Given the description of an element on the screen output the (x, y) to click on. 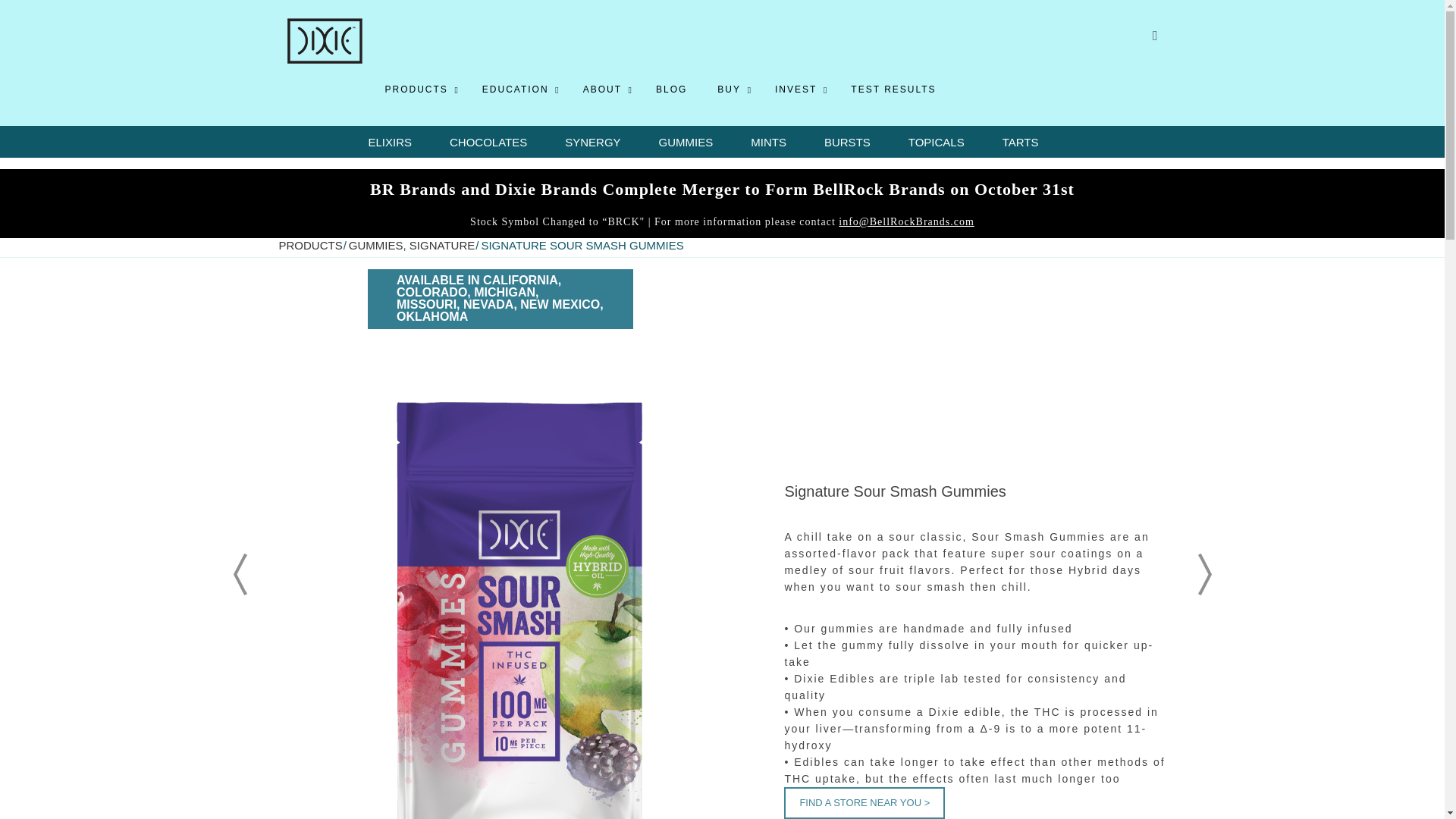
PRODUCTS (418, 89)
BUY (730, 89)
EDUCATION (517, 89)
TEST RESULTS (892, 89)
INVEST (797, 89)
ELIXIRS (390, 141)
ABOUT (603, 89)
BLOG (767, 89)
